Given the description of an element on the screen output the (x, y) to click on. 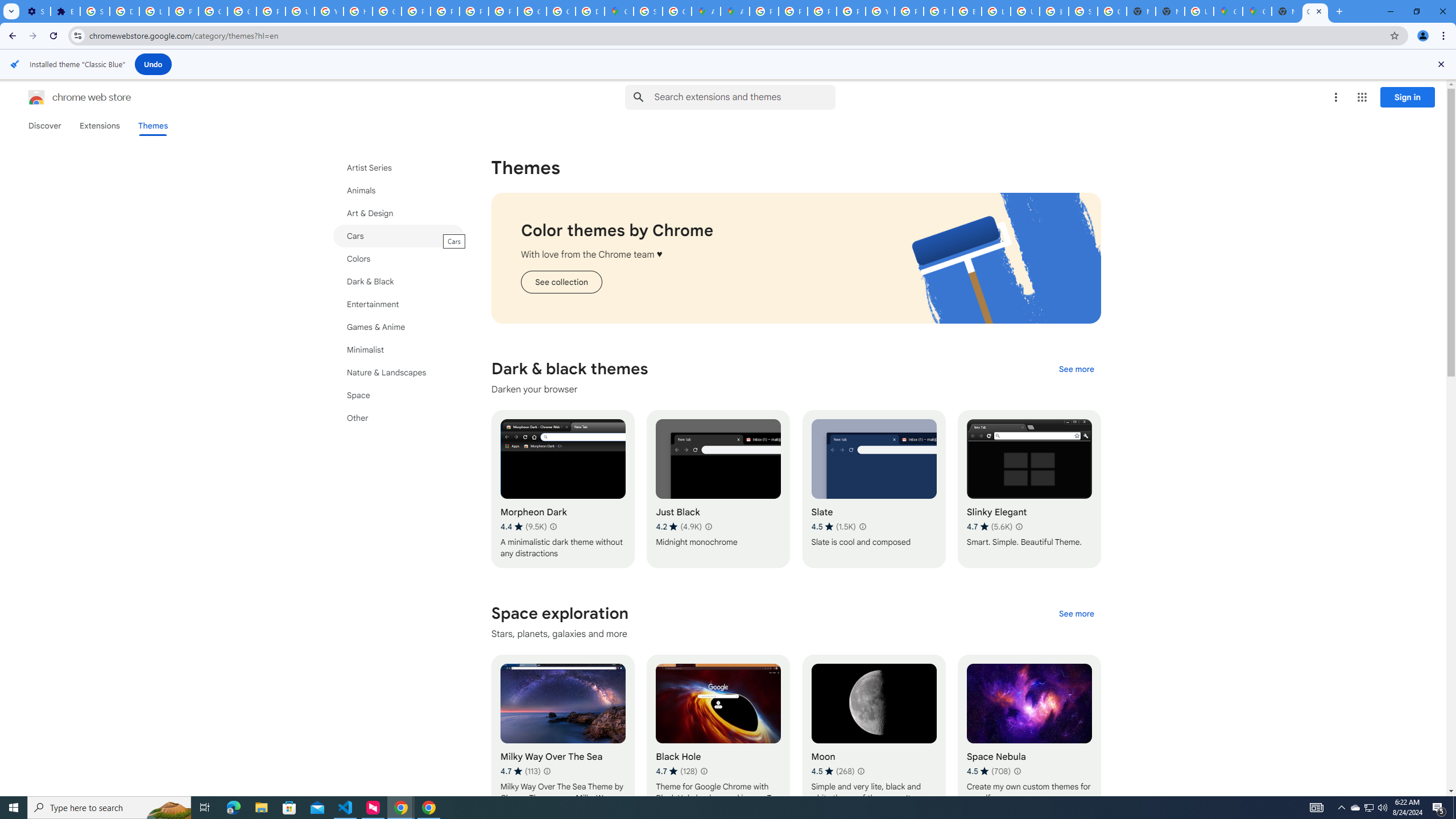
See more of the "Dark & black themes" collection (1075, 368)
Learn more about results and reviews "Black Hole" (703, 771)
Google Account Help (242, 11)
Entertainment (398, 304)
Learn more about results and reviews "Slate" (862, 526)
More options menu (1335, 96)
Minimalist (398, 349)
Space (398, 395)
Learn more about results and reviews "Morpheon Dark" (552, 526)
Learn more about results and reviews "Space Nebula" (1016, 771)
Chrome Web Store logo (36, 97)
Average rating 4.4 out of 5 stars. 9.5K ratings. (523, 526)
